Given the description of an element on the screen output the (x, y) to click on. 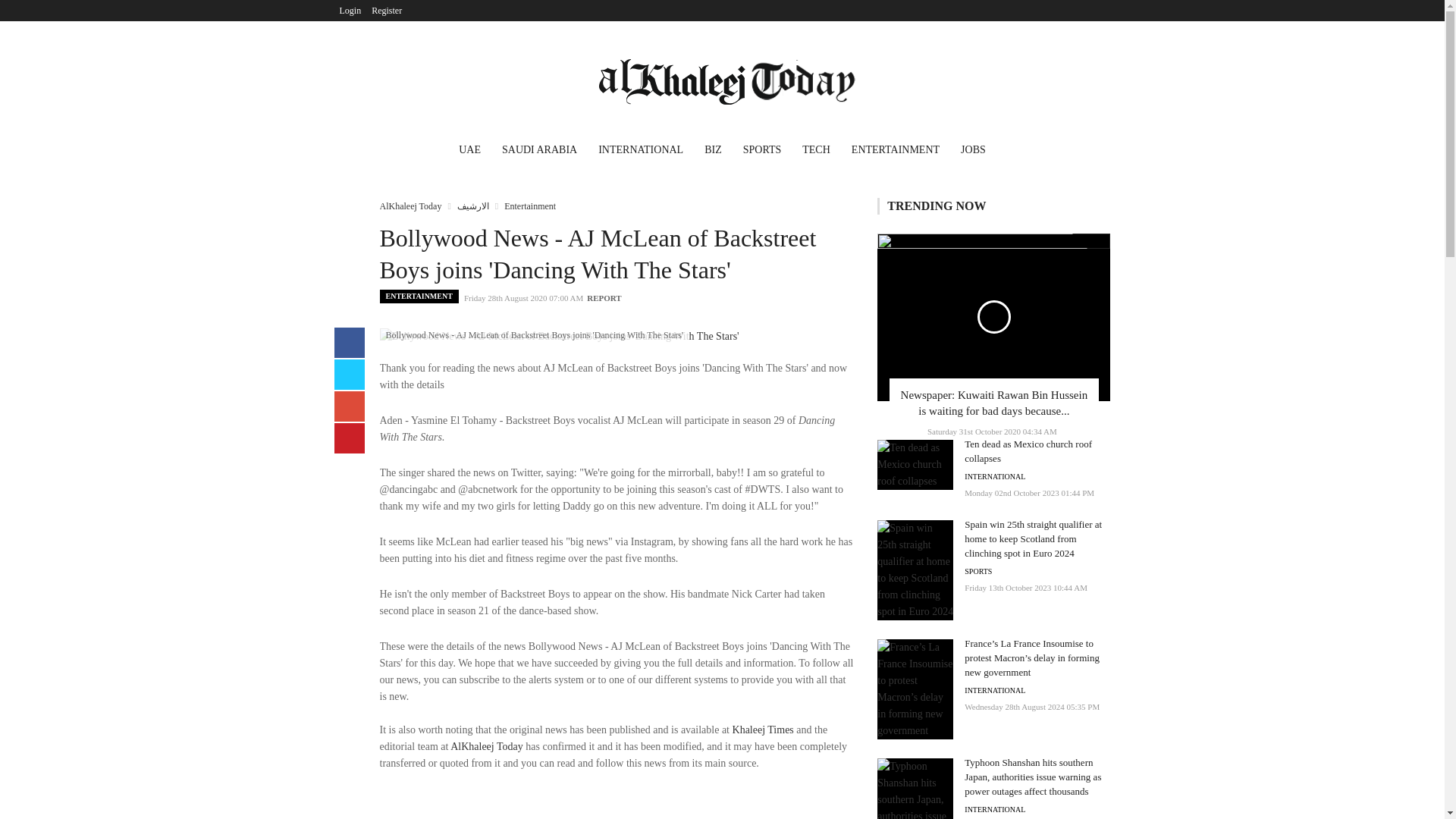
TECH (816, 151)
ENTERTAINMENT (895, 151)
Ten dead as Mexico church roof collapses (1027, 451)
INTERNATIONAL (994, 690)
Login (349, 10)
REPORT (603, 297)
Entertainment (529, 205)
BIZ (713, 151)
